Given the description of an element on the screen output the (x, y) to click on. 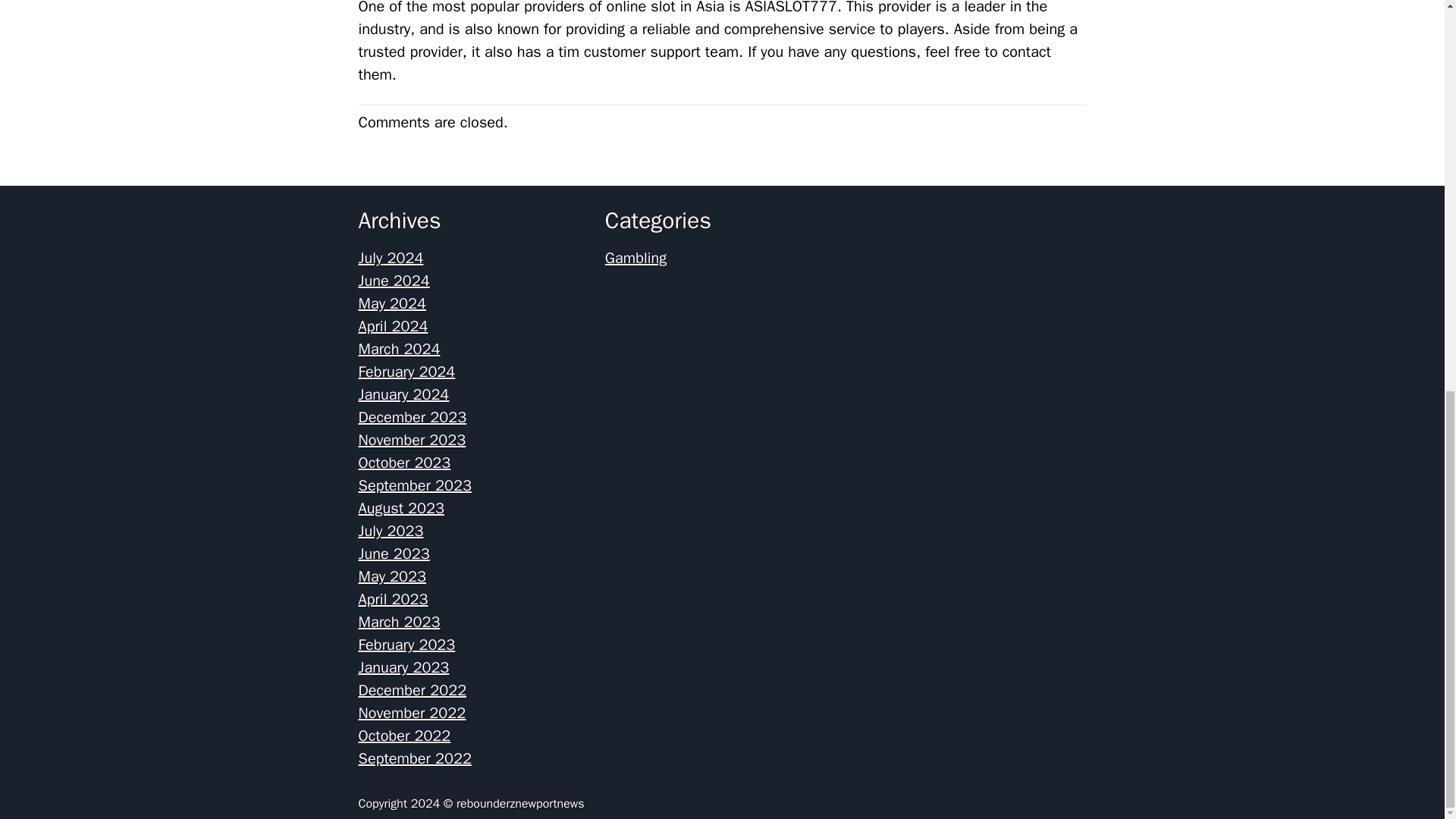
November 2023 (411, 439)
Gambling (635, 257)
March 2023 (398, 621)
February 2024 (406, 371)
April 2023 (393, 599)
January 2024 (403, 394)
October 2022 (403, 735)
November 2022 (411, 712)
December 2022 (411, 690)
September 2022 (414, 758)
February 2023 (406, 644)
June 2023 (393, 553)
June 2024 (393, 280)
September 2023 (414, 485)
May 2023 (392, 576)
